Given the description of an element on the screen output the (x, y) to click on. 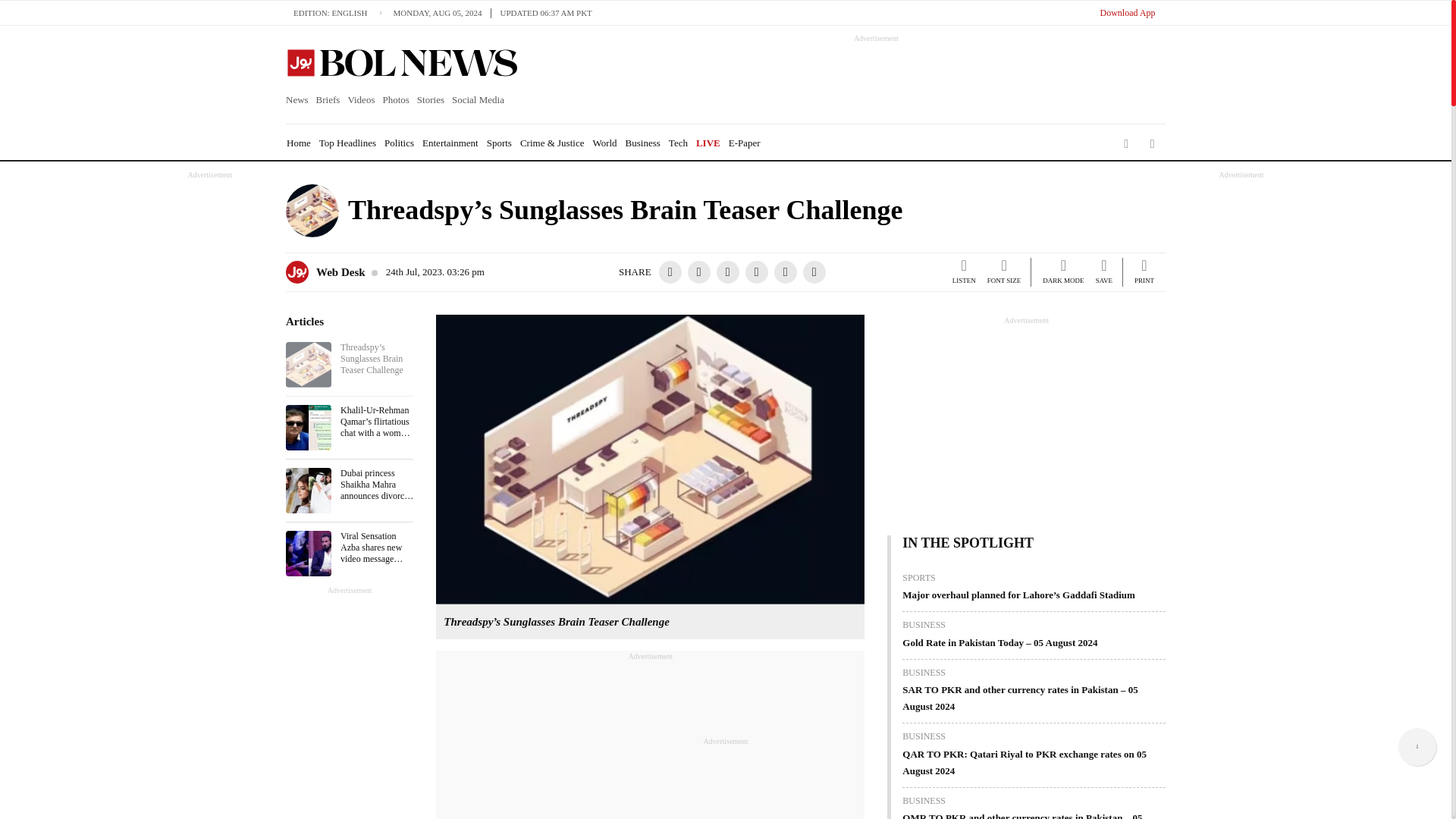
Advertisement (725, 780)
Business (643, 143)
MONDAY, AUG 05, 2024 (441, 12)
News (299, 99)
Entertainment (450, 143)
Videos (360, 99)
Social Media (478, 99)
Photos (395, 99)
Stories (430, 99)
Advertisement (862, 78)
UPDATED 06:37 AM PKT (546, 12)
Briefs (328, 99)
Advertisement (650, 740)
Download App (1127, 12)
Top Headlines (346, 143)
